Given the description of an element on the screen output the (x, y) to click on. 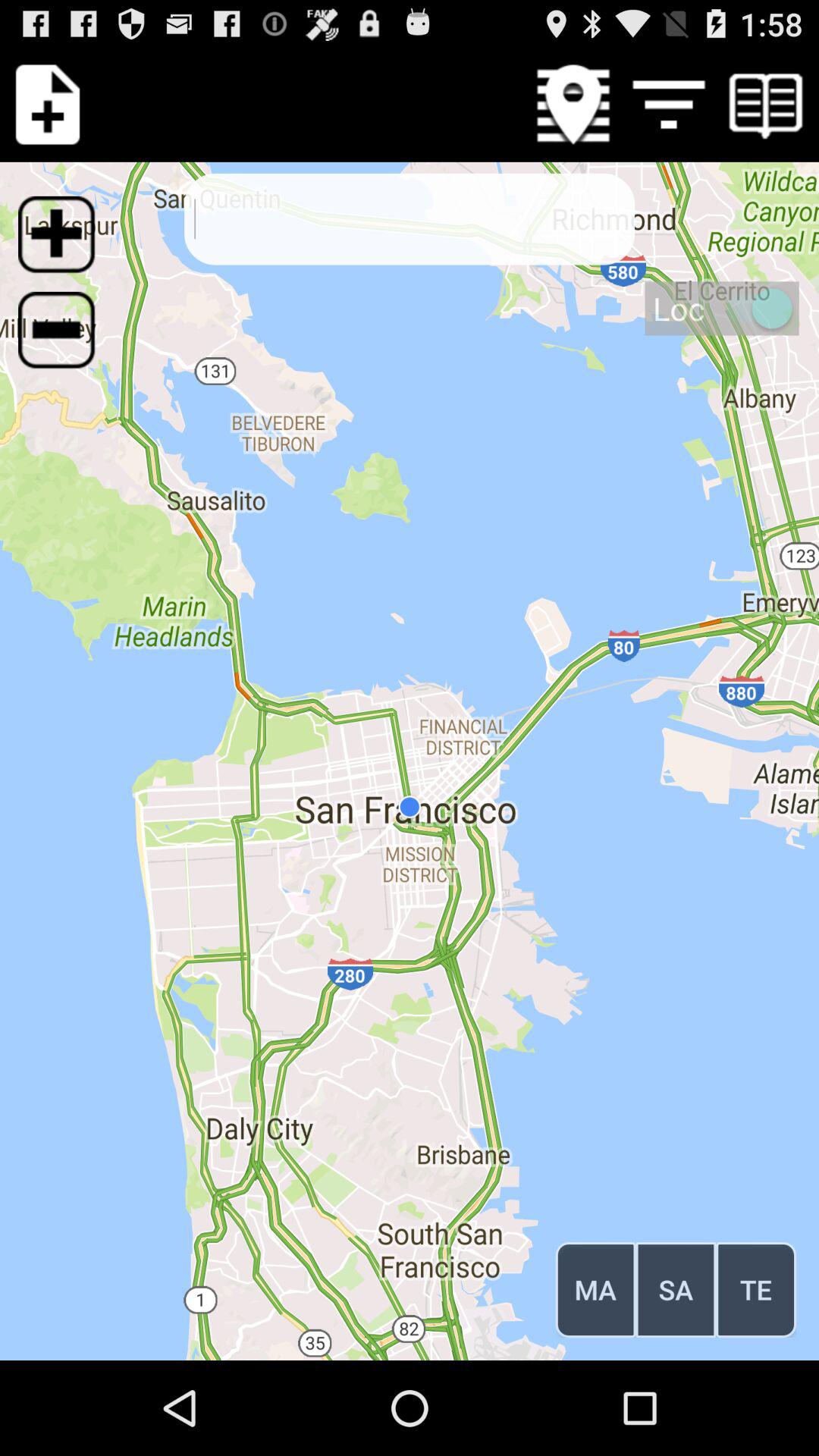
select the te item (756, 1289)
